Given the description of an element on the screen output the (x, y) to click on. 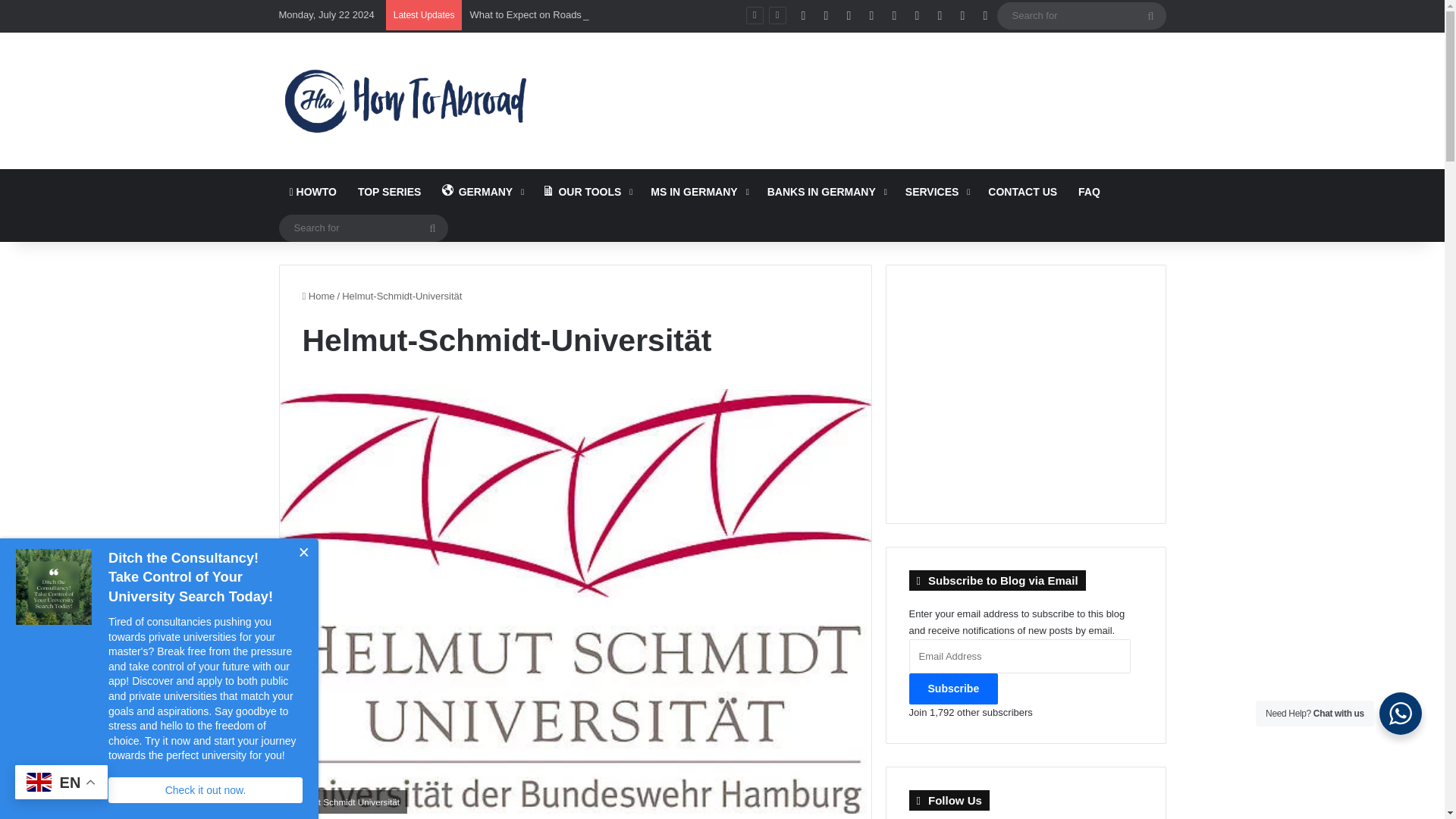
HOWTO (313, 191)
How to Abroad (405, 100)
SERVICES (936, 191)
BANKS IN GERMANY (826, 191)
OUR TOOLS (585, 191)
Search for (363, 227)
TOP SERIES (389, 191)
MS IN GERMANY (697, 191)
GERMANY (480, 191)
Search for (1080, 15)
